Given the description of an element on the screen output the (x, y) to click on. 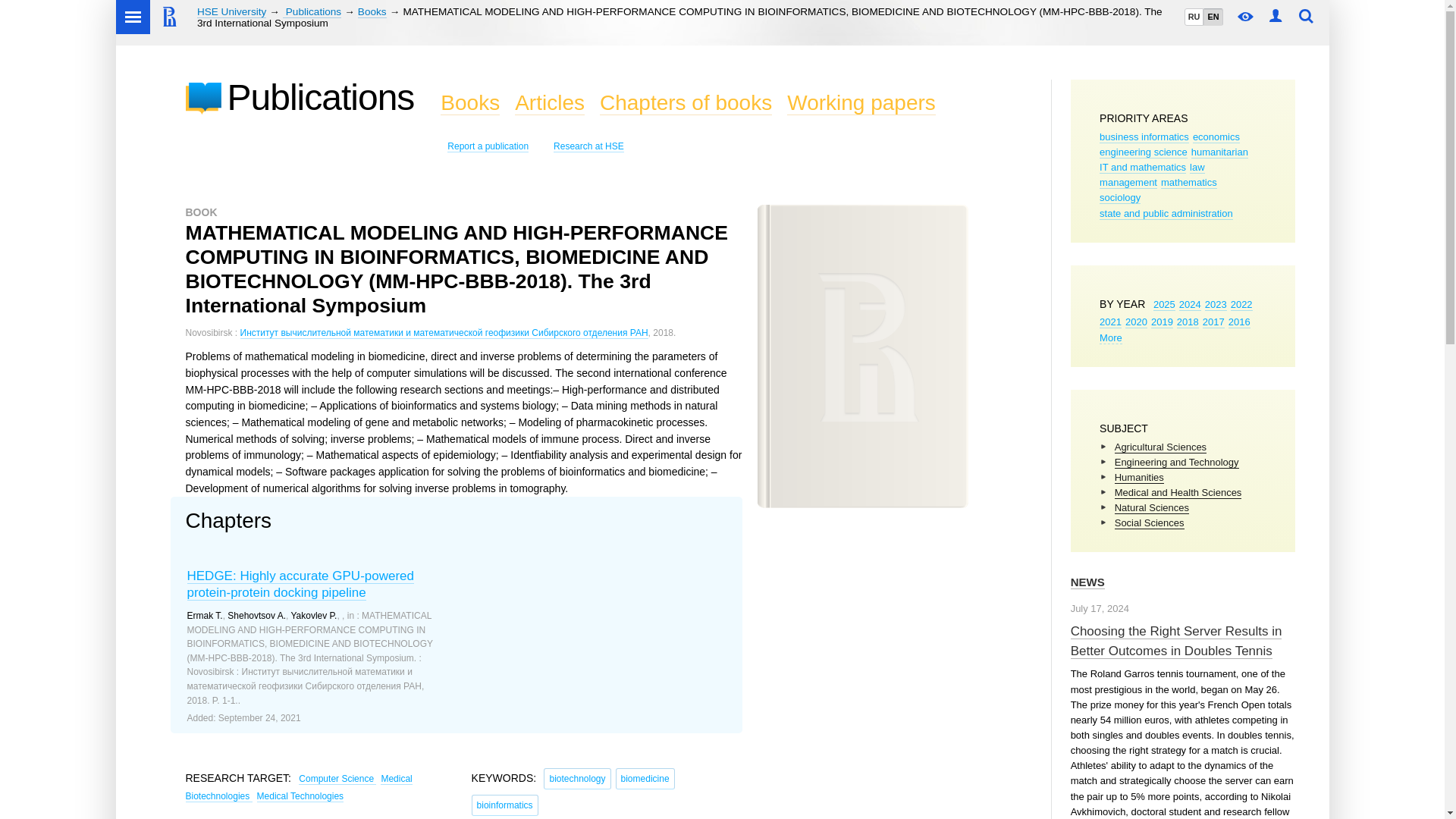
law (1197, 167)
engineering science (1143, 152)
2016 (1239, 322)
sociology (1119, 197)
For visually-impaired (1245, 17)
business informatics (1144, 137)
RU (1194, 17)
IT and mathematics (1142, 167)
2020 (1136, 322)
Books (372, 11)
state and public administration (1166, 214)
2023 (1216, 304)
EN (1212, 17)
2017 (1213, 322)
2024 (1190, 304)
